Given the description of an element on the screen output the (x, y) to click on. 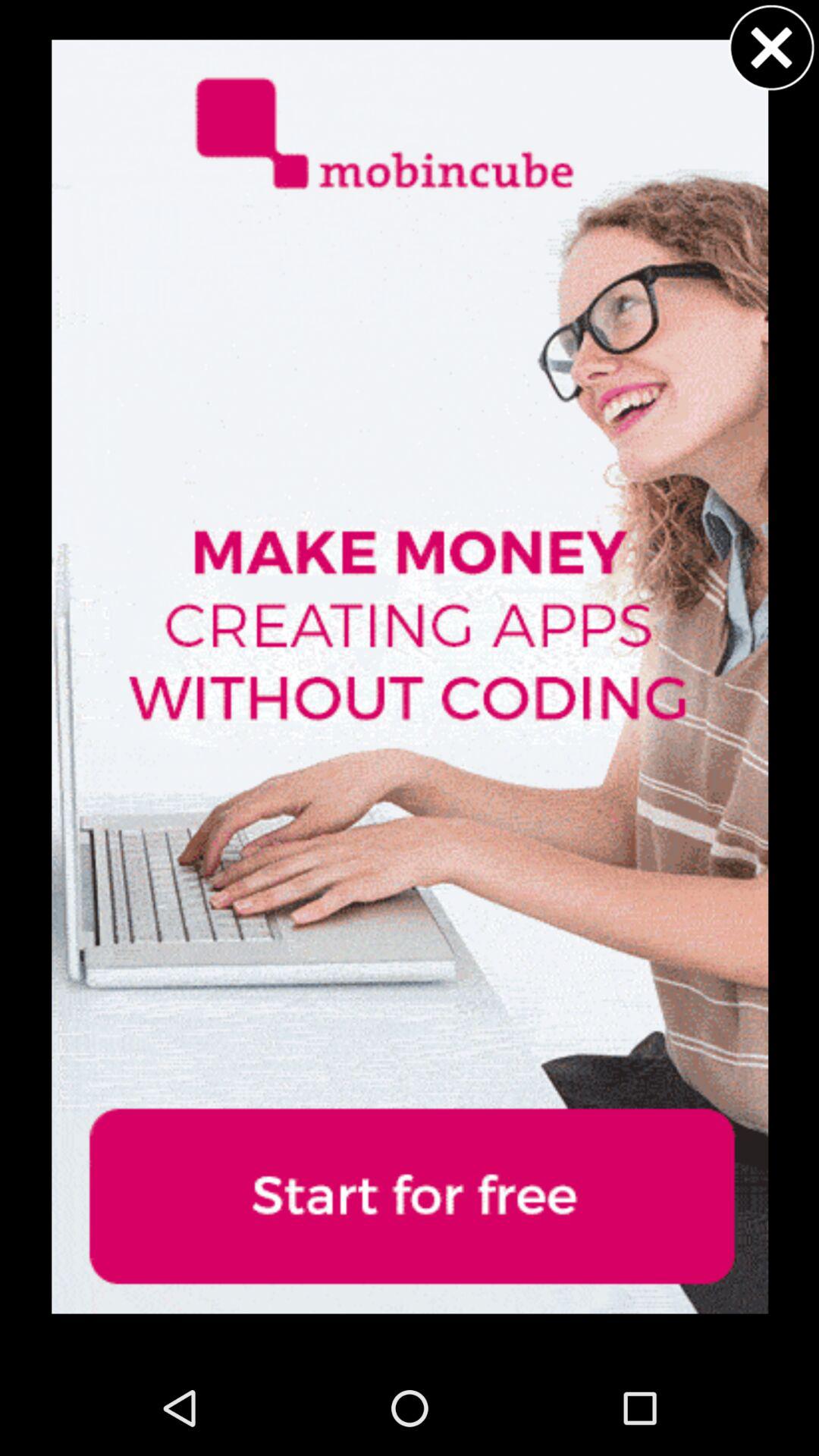
close (771, 47)
